Given the description of an element on the screen output the (x, y) to click on. 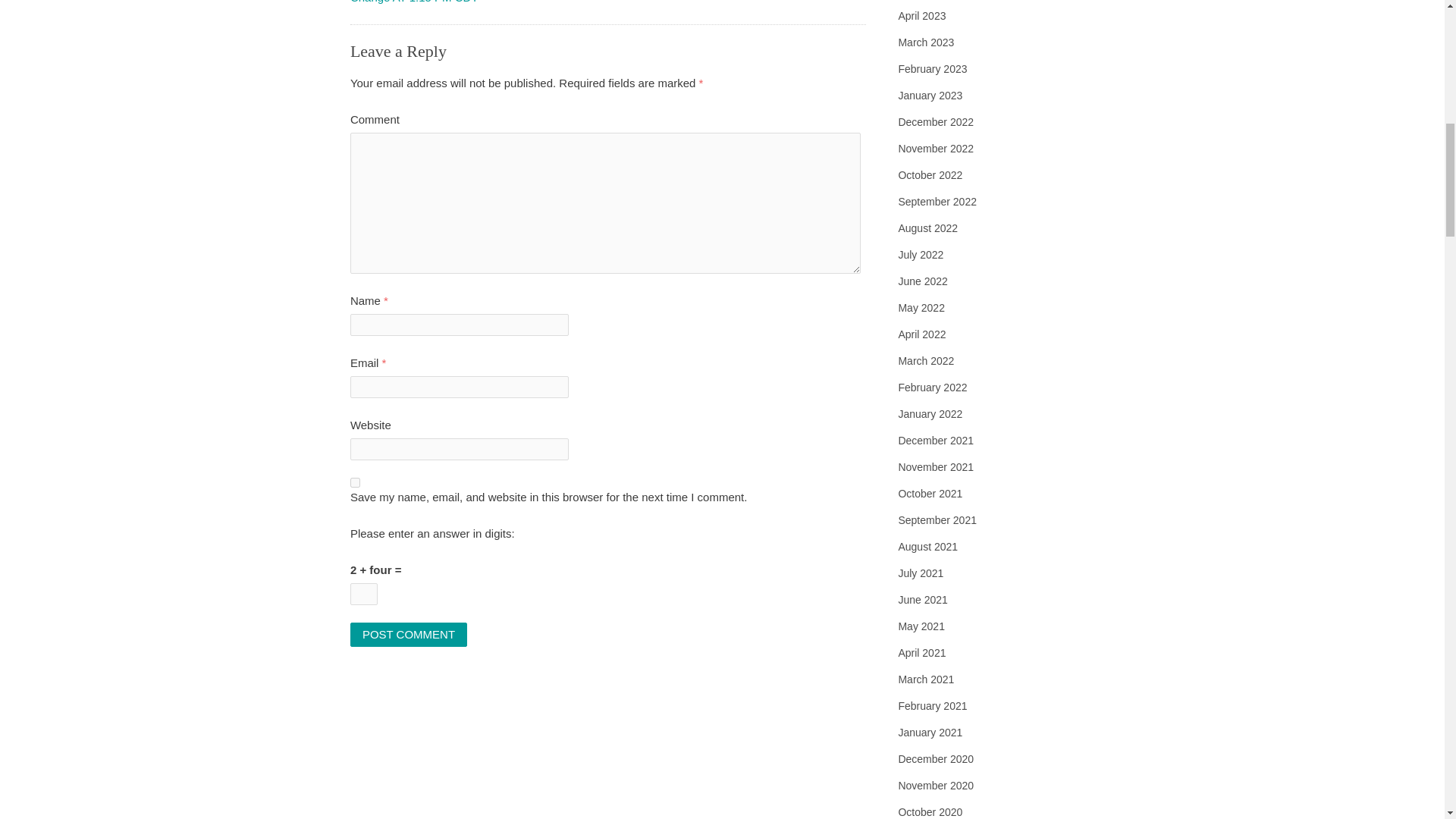
yes (354, 482)
Post Comment (408, 634)
